Given the description of an element on the screen output the (x, y) to click on. 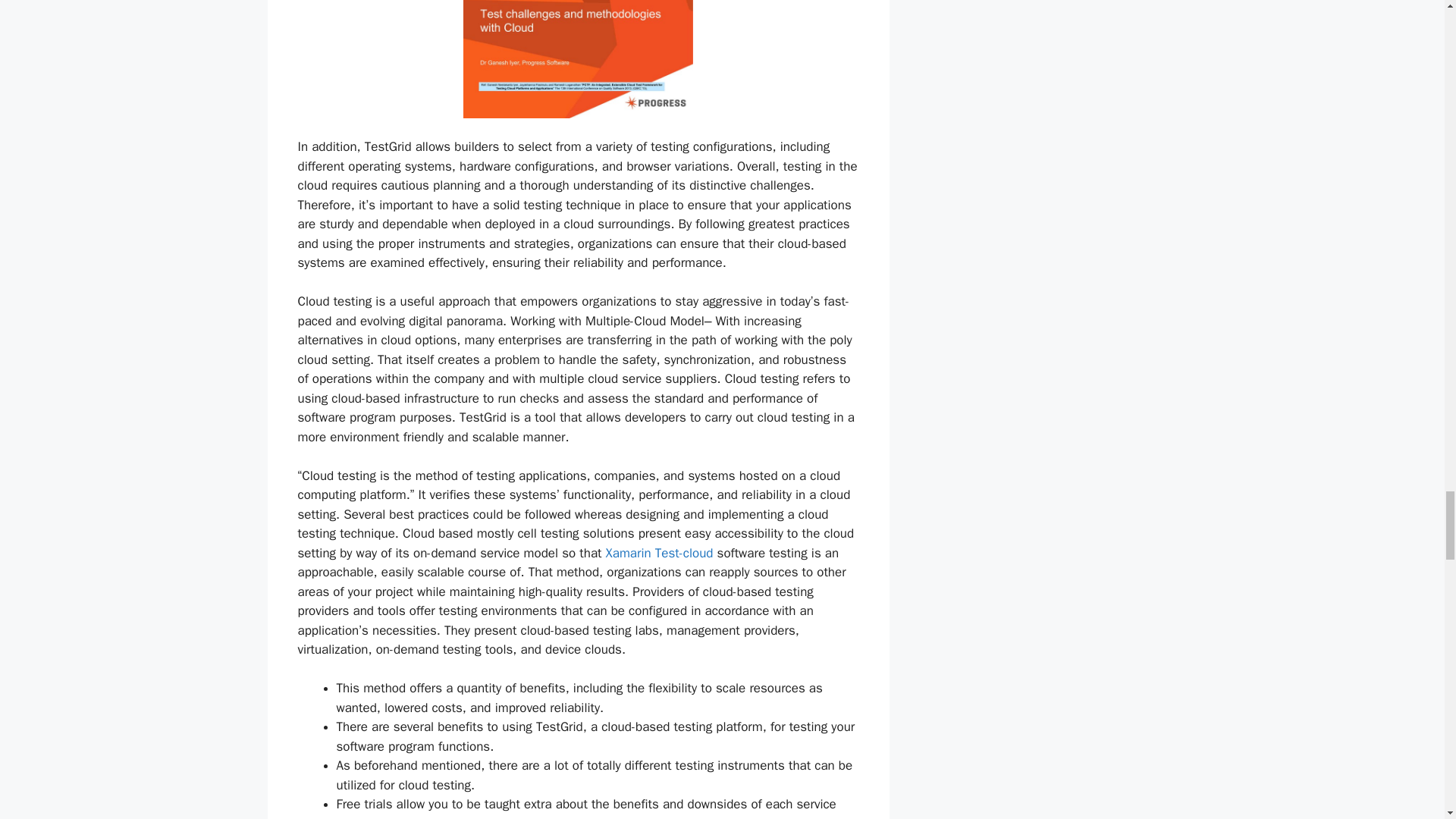
Xamarin Test-cloud (659, 553)
